Given the description of an element on the screen output the (x, y) to click on. 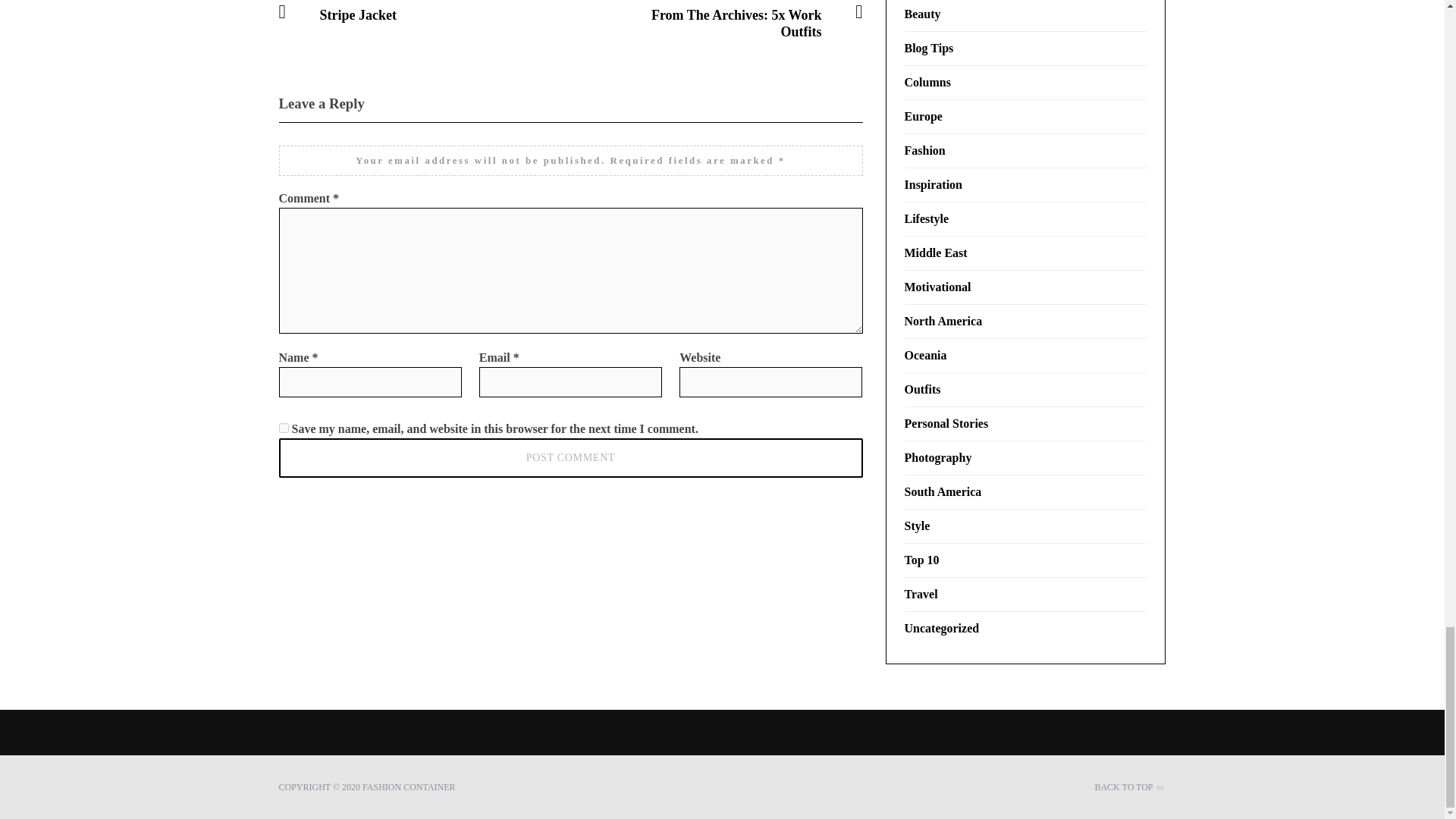
Post Comment (571, 457)
yes (283, 428)
